Given the description of an element on the screen output the (x, y) to click on. 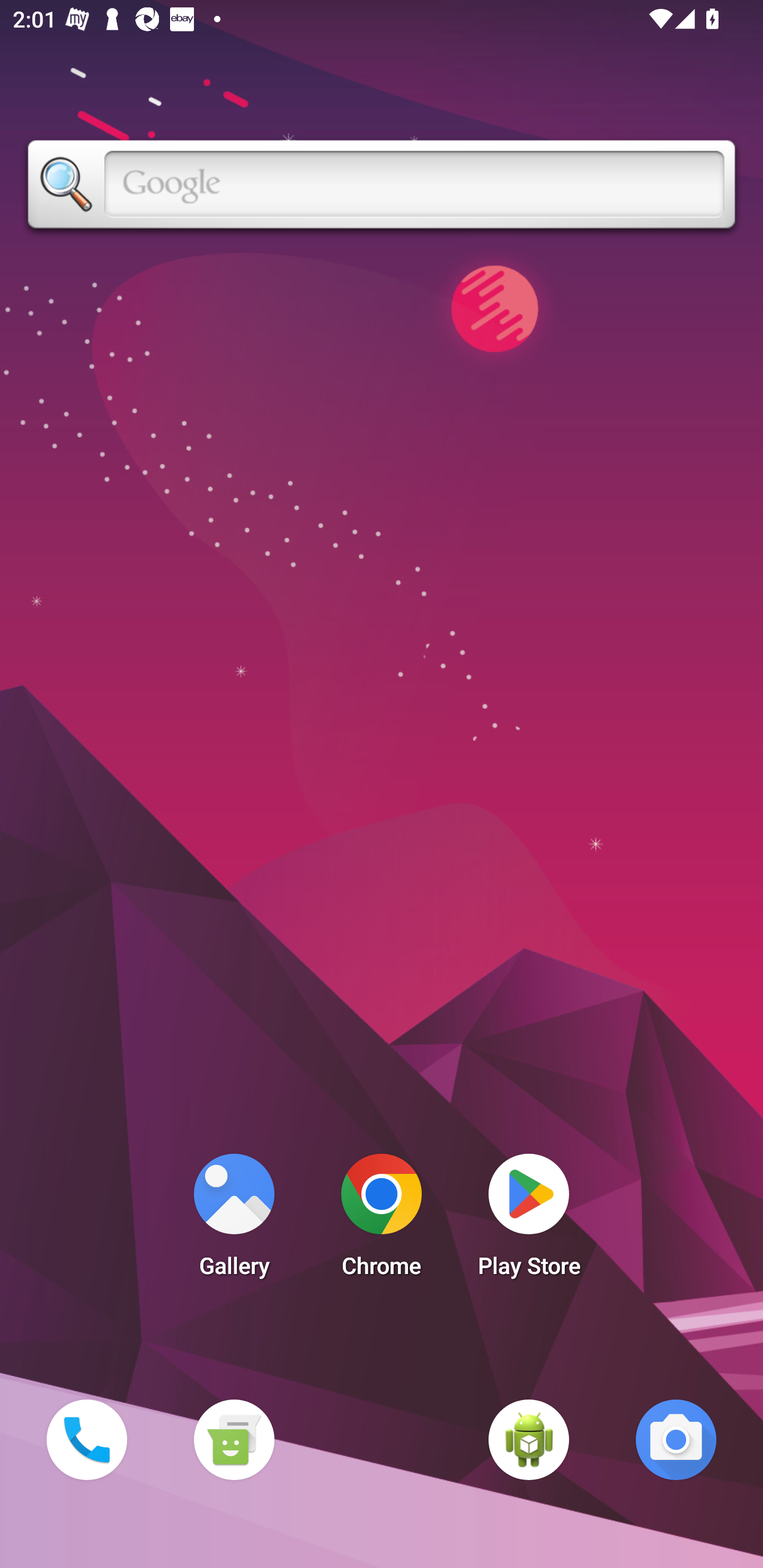
Gallery (233, 1220)
Chrome (381, 1220)
Play Store (528, 1220)
Phone (86, 1439)
Messaging (233, 1439)
WebView Browser Tester (528, 1439)
Camera (676, 1439)
